Given the description of an element on the screen output the (x, y) to click on. 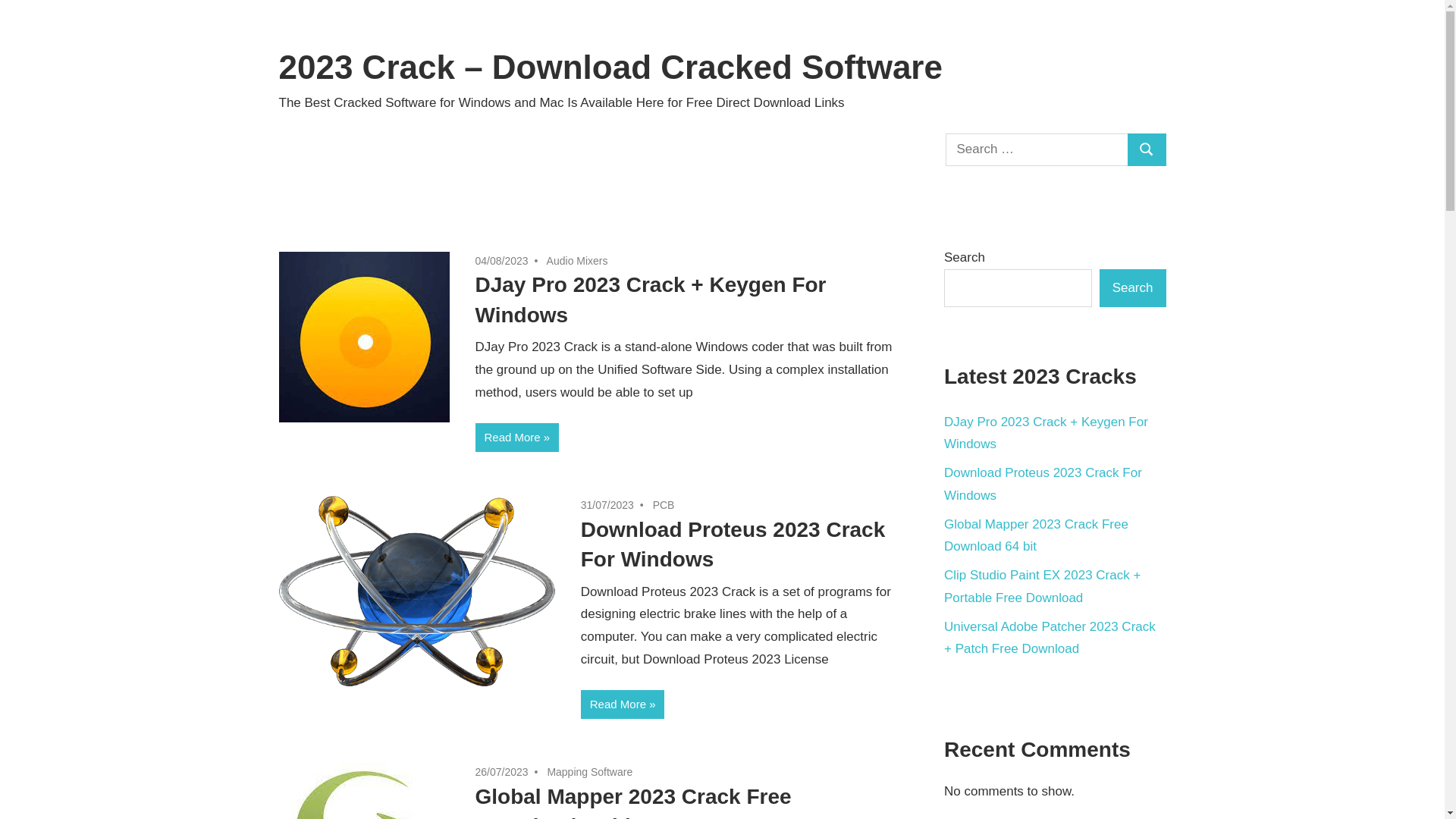
Clip Studio Paint EX 2023 Crack + Portable Free Download Element type: text (1042, 586)
31/07/2023 Element type: text (606, 504)
Audio Mixers Element type: text (577, 260)
PCB Element type: text (663, 504)
Search for: Element type: hover (1036, 149)
04/08/2023 Element type: text (500, 260)
Mapping Software Element type: text (589, 771)
DJay Pro 2023 Crack + Keygen For Windows Element type: text (649, 299)
26/07/2023 Element type: text (500, 771)
Download Proteus 2023 Crack For Windows Element type: text (732, 544)
Read More Element type: text (516, 437)
Universal Adobe Patcher 2023 Crack + Patch Free Download Element type: text (1049, 637)
Search Element type: text (1132, 288)
DJay Pro 2023 Crack + Keygen For Windows Element type: text (1046, 432)
Search Element type: text (1146, 149)
Download Proteus 2023 Crack For Windows Element type: text (1043, 483)
Global Mapper 2023 Crack Free Download 64 bit Element type: text (1036, 535)
Read More Element type: text (622, 704)
